Given the description of an element on the screen output the (x, y) to click on. 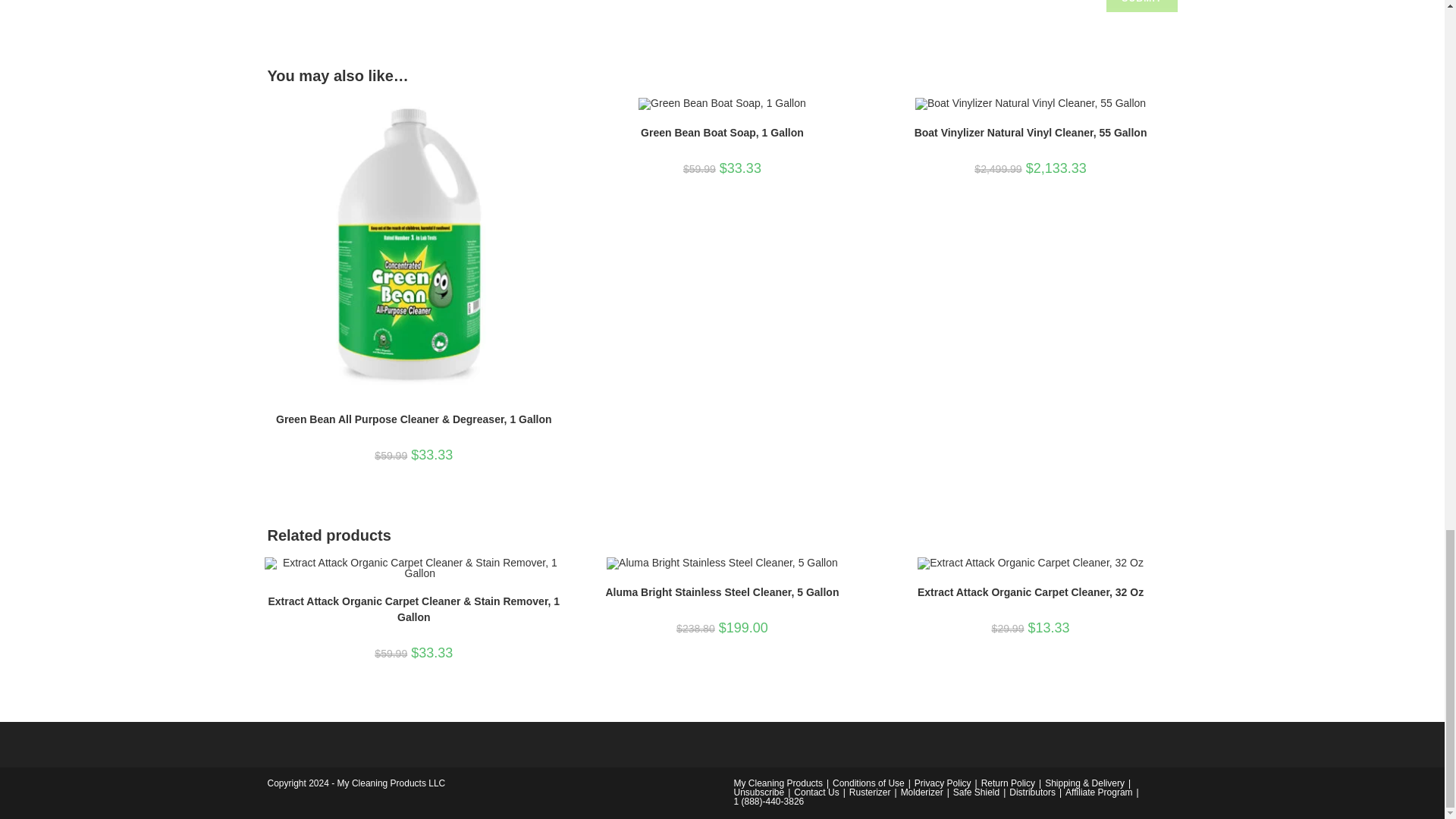
My Cleaning Products (777, 783)
Safe Shield (975, 792)
Rusterizer (869, 792)
Molderizer (922, 792)
Submit (1141, 6)
Submit (1141, 6)
